Given the description of an element on the screen output the (x, y) to click on. 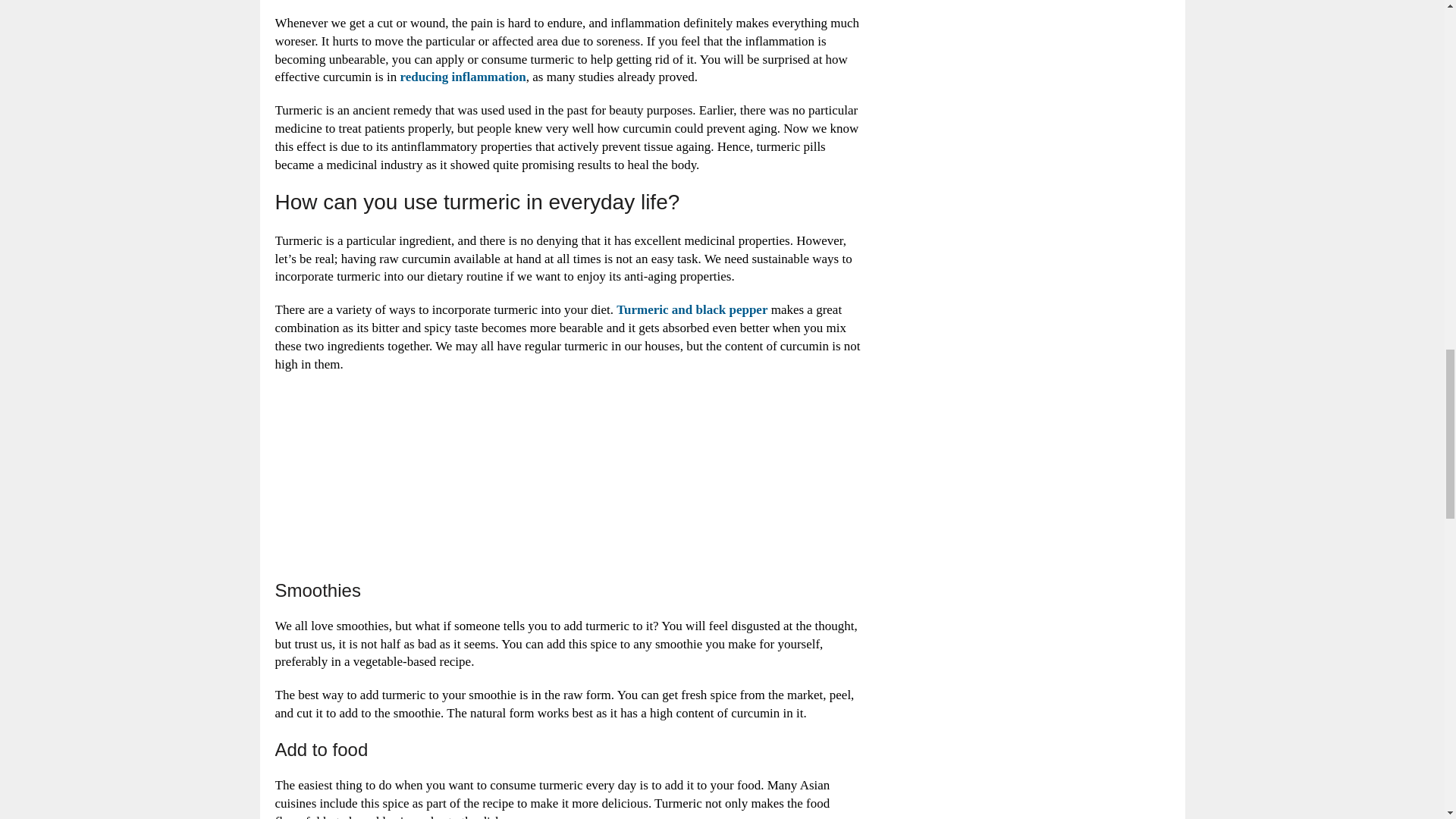
Turmeric and black pepper (691, 309)
reducing inflammation (461, 76)
